Given the description of an element on the screen output the (x, y) to click on. 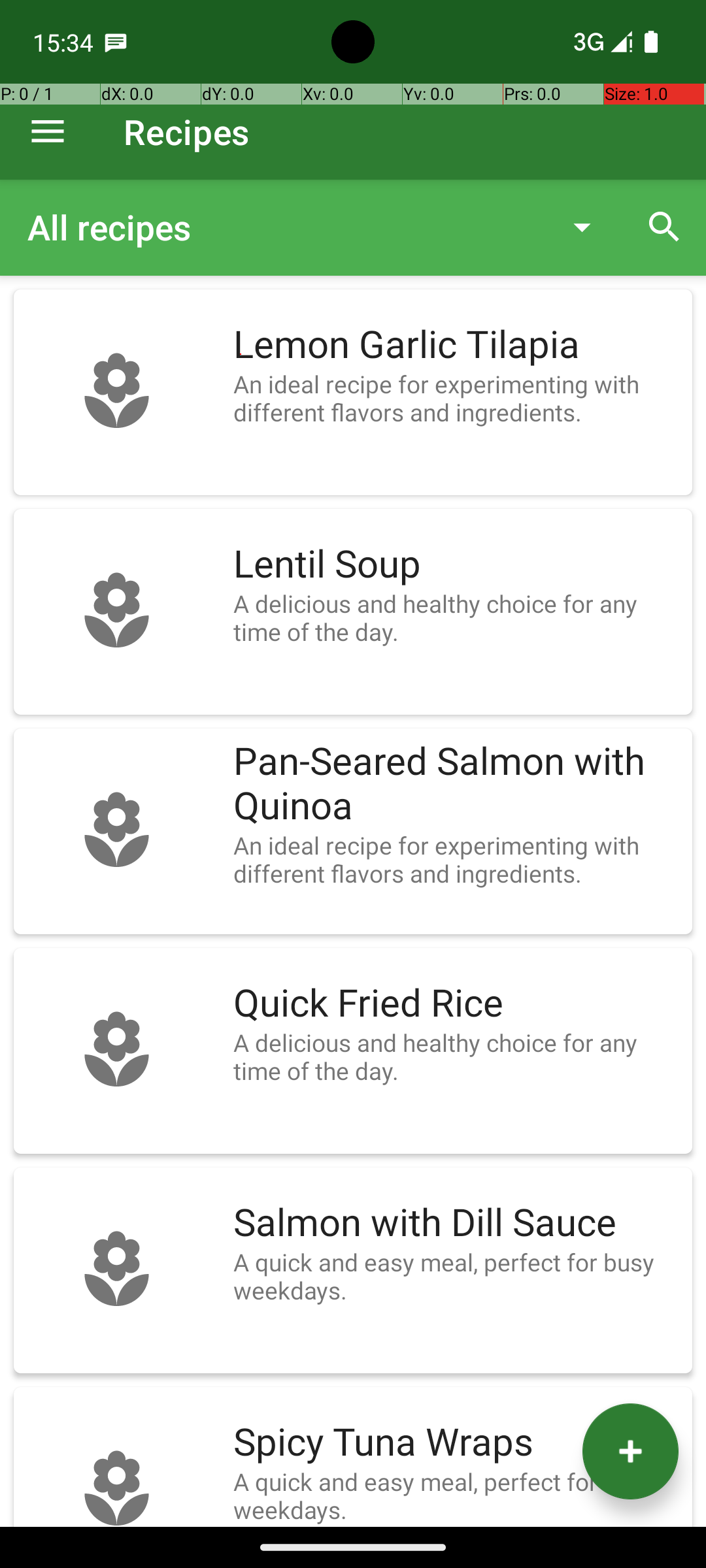
New Recipe Element type: android.widget.ImageButton (630, 1451)
All recipes Element type: android.widget.TextView (283, 226)
Recipe photo Element type: android.widget.ImageView (116, 392)
Lemon Garlic Tilapia Element type: android.widget.TextView (455, 344)
An ideal recipe for experimenting with different flavors and ingredients. Element type: android.widget.TextView (455, 397)
Lentil Soup Element type: android.widget.TextView (455, 564)
A delicious and healthy choice for any time of the day. Element type: android.widget.TextView (455, 617)
Pan-Seared Salmon with Quinoa Element type: android.widget.TextView (455, 783)
Quick Fried Rice Element type: android.widget.TextView (455, 1003)
Salmon with Dill Sauce Element type: android.widget.TextView (455, 1222)
A quick and easy meal, perfect for busy weekdays. Element type: android.widget.TextView (455, 1275)
Spicy Tuna Wraps Element type: android.widget.TextView (455, 1442)
